Given the description of an element on the screen output the (x, y) to click on. 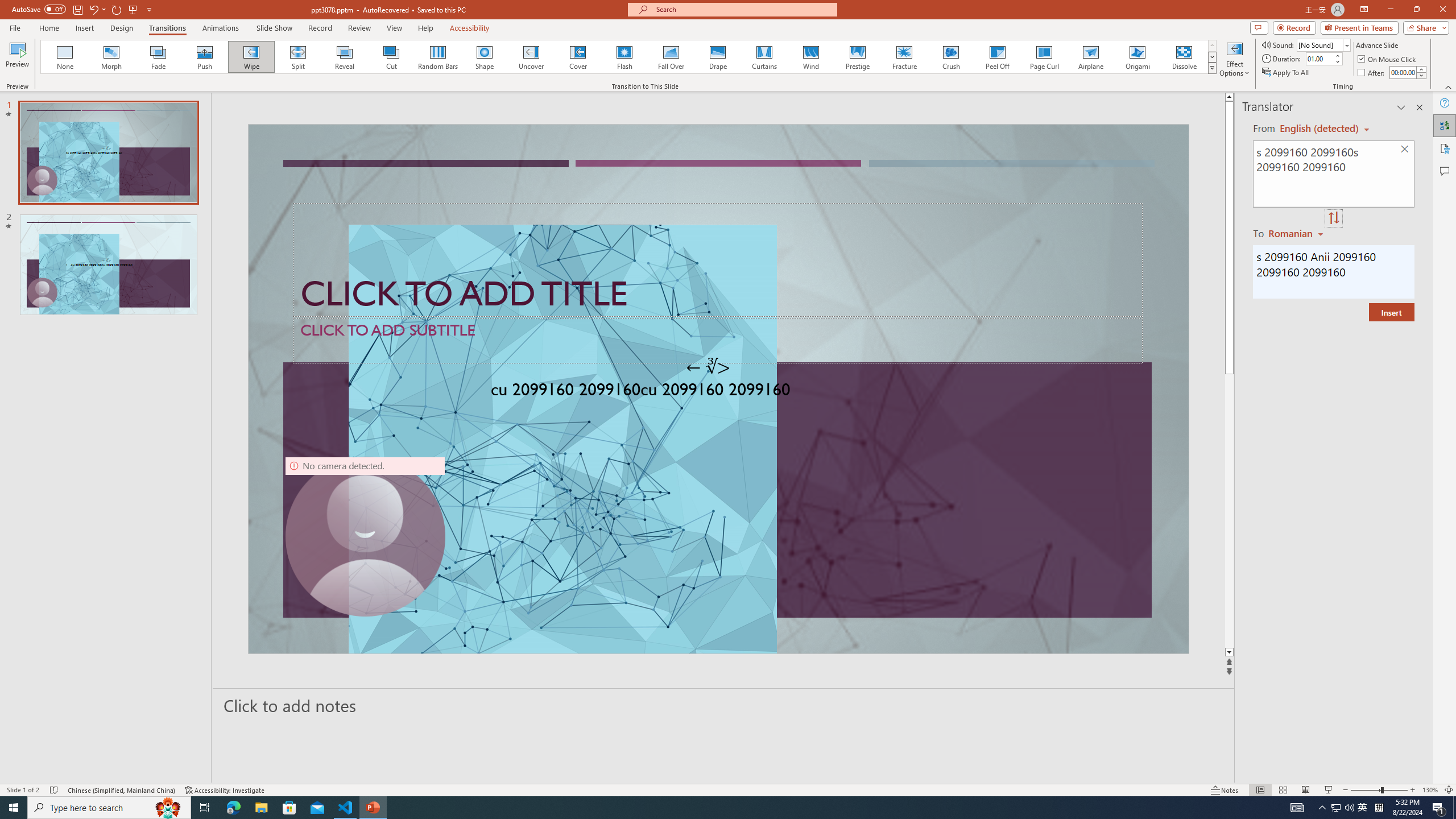
Push (205, 56)
Sound (1324, 44)
Camera 9, No camera detected. (364, 536)
Dissolve (1183, 56)
Duration (1319, 58)
Czech (detected) (1319, 128)
Uncover (531, 56)
Fade (158, 56)
